Given the description of an element on the screen output the (x, y) to click on. 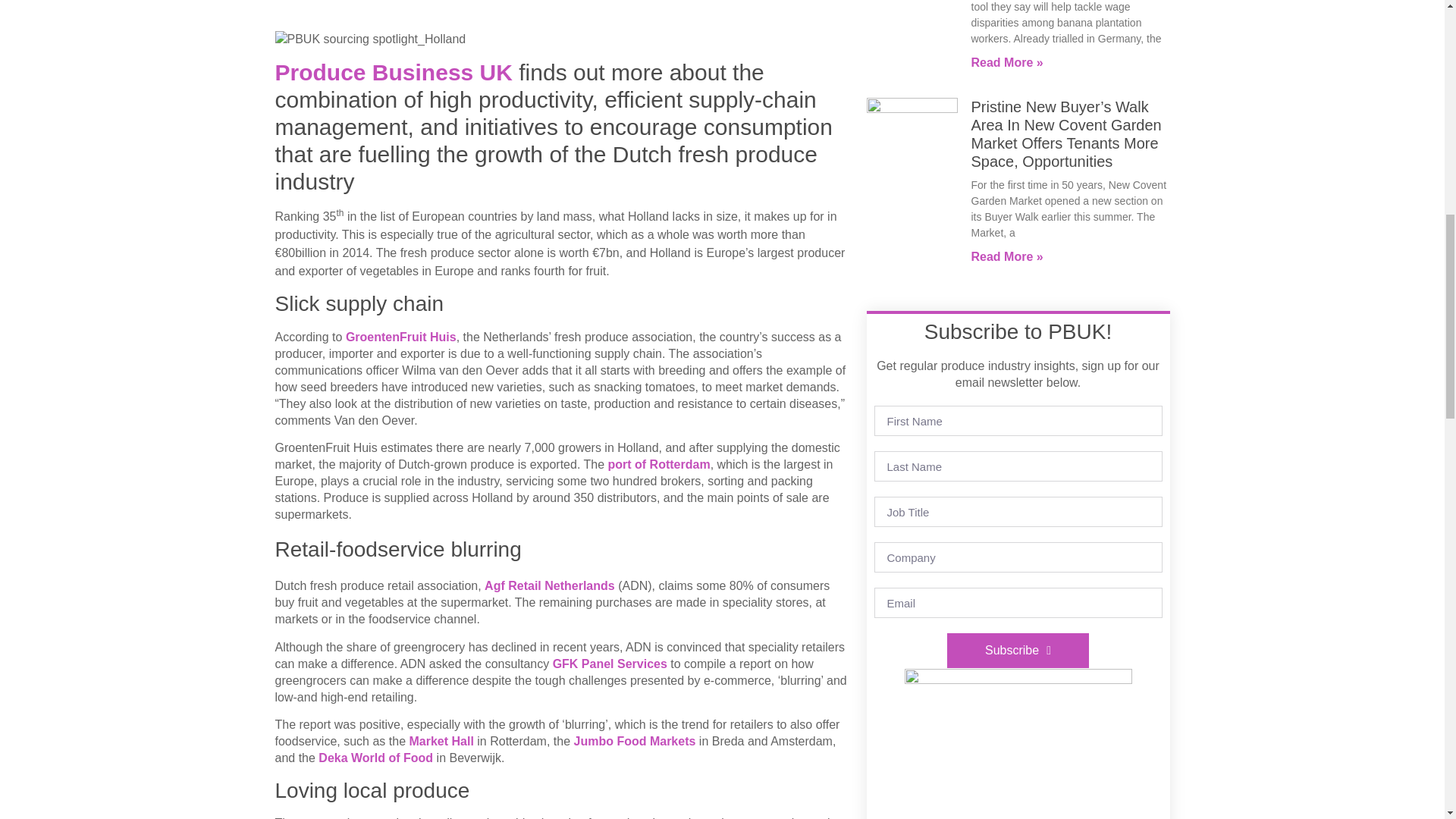
port of Rotterdam (659, 463)
GroentenFruit Huis (401, 336)
Produce Business UK (393, 72)
Agf Retail Netherlands (549, 585)
Market Hall (441, 740)
Jumbo Food Markets (634, 740)
Deka World of Food (375, 757)
GFK Panel Services (609, 663)
